Given the description of an element on the screen output the (x, y) to click on. 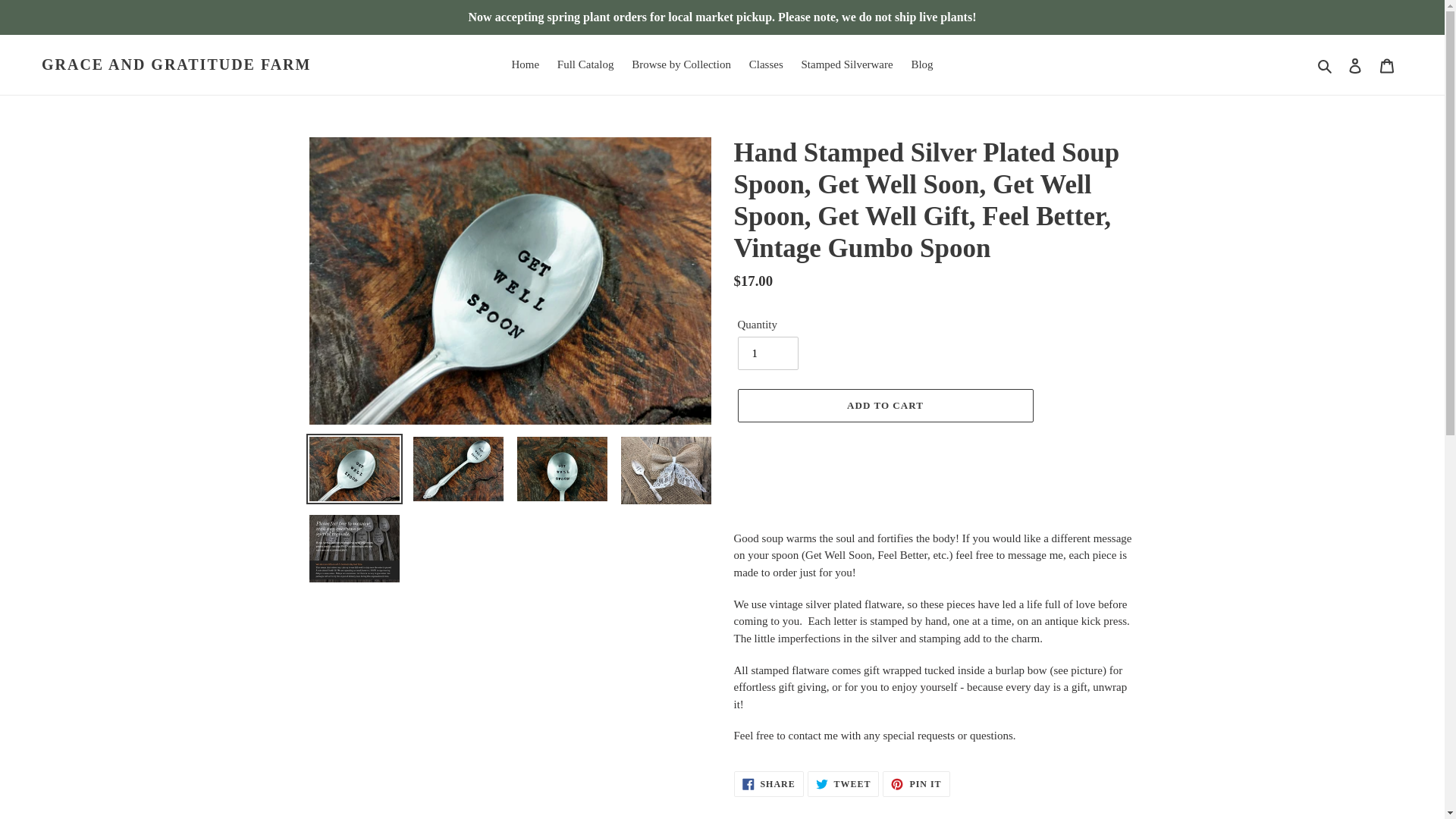
Stamped Silverware (768, 783)
ADD TO CART (846, 65)
Cart (884, 405)
Log in (1387, 64)
Full Catalog (1355, 64)
Home (585, 65)
Search (525, 65)
Classes (1326, 64)
